Given the description of an element on the screen output the (x, y) to click on. 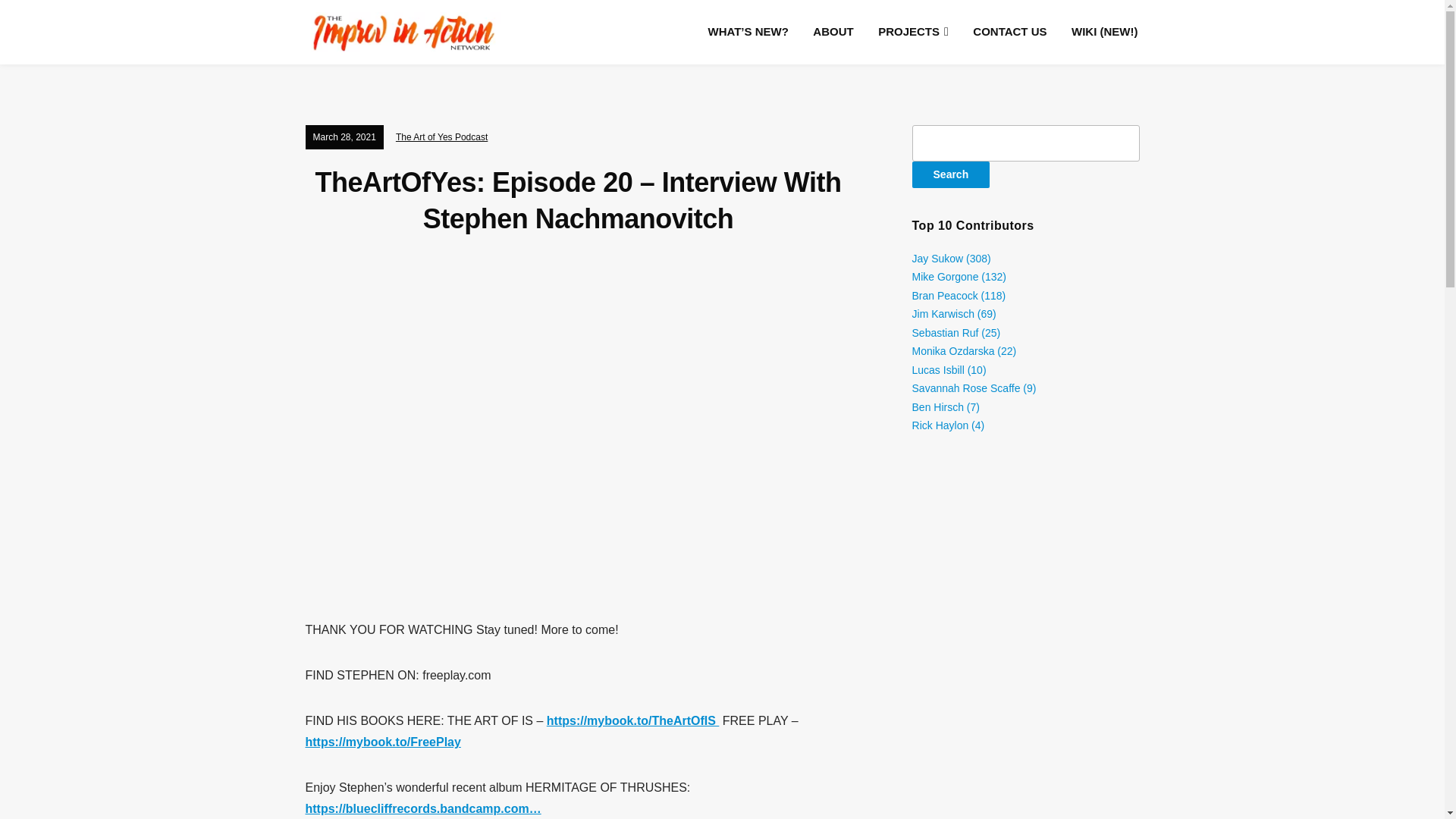
CONTACT US (1009, 31)
PROJECTS (913, 31)
Search (951, 174)
ABOUT (832, 31)
The Art of Yes Podcast (441, 136)
